Given the description of an element on the screen output the (x, y) to click on. 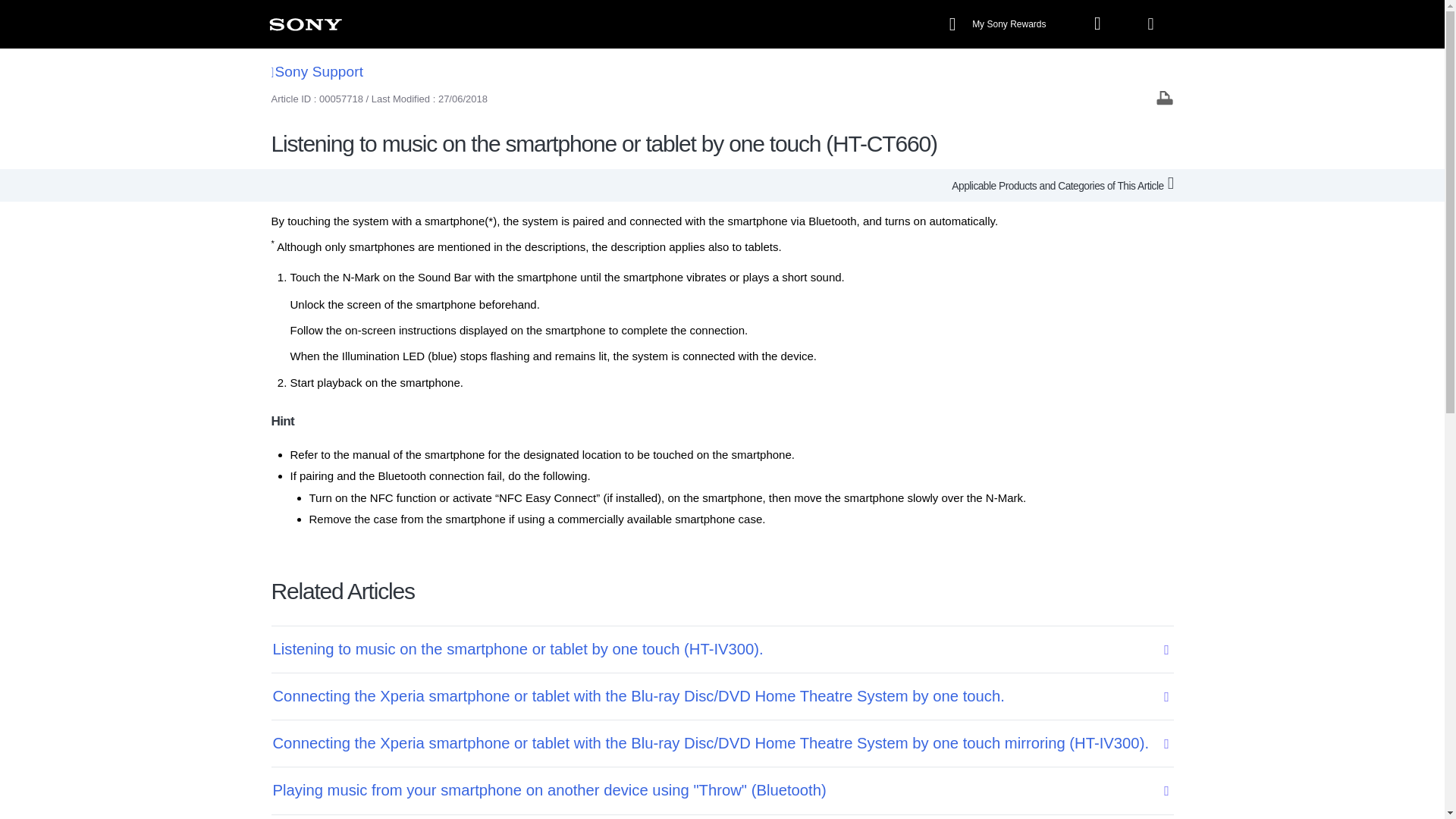
Print (1164, 97)
My Sony Rewards (998, 24)
